Given the description of an element on the screen output the (x, y) to click on. 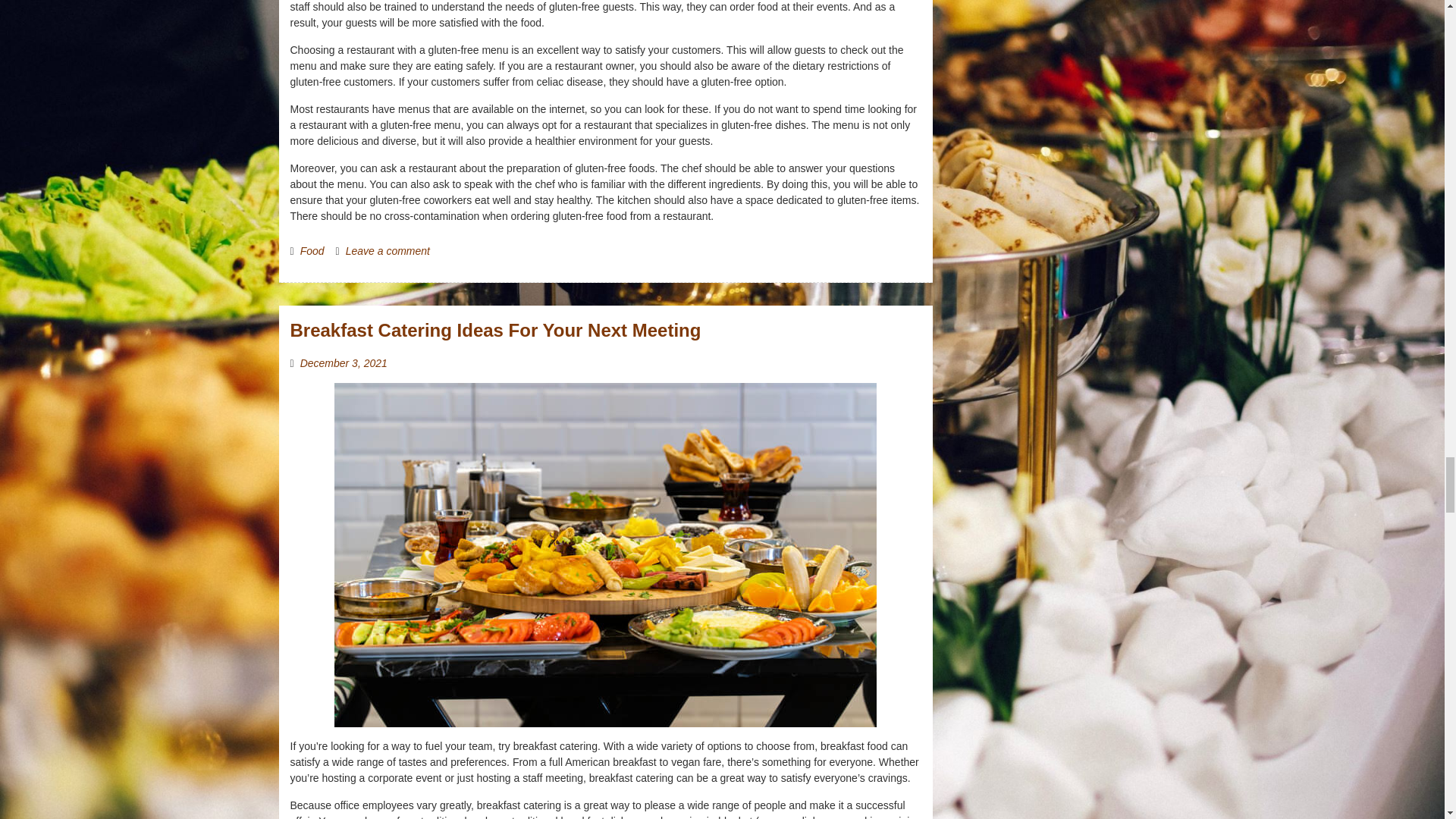
Breakfast Catering Ideas For Your Next Meeting (494, 330)
Food (311, 250)
Leave a comment (387, 250)
